Given the description of an element on the screen output the (x, y) to click on. 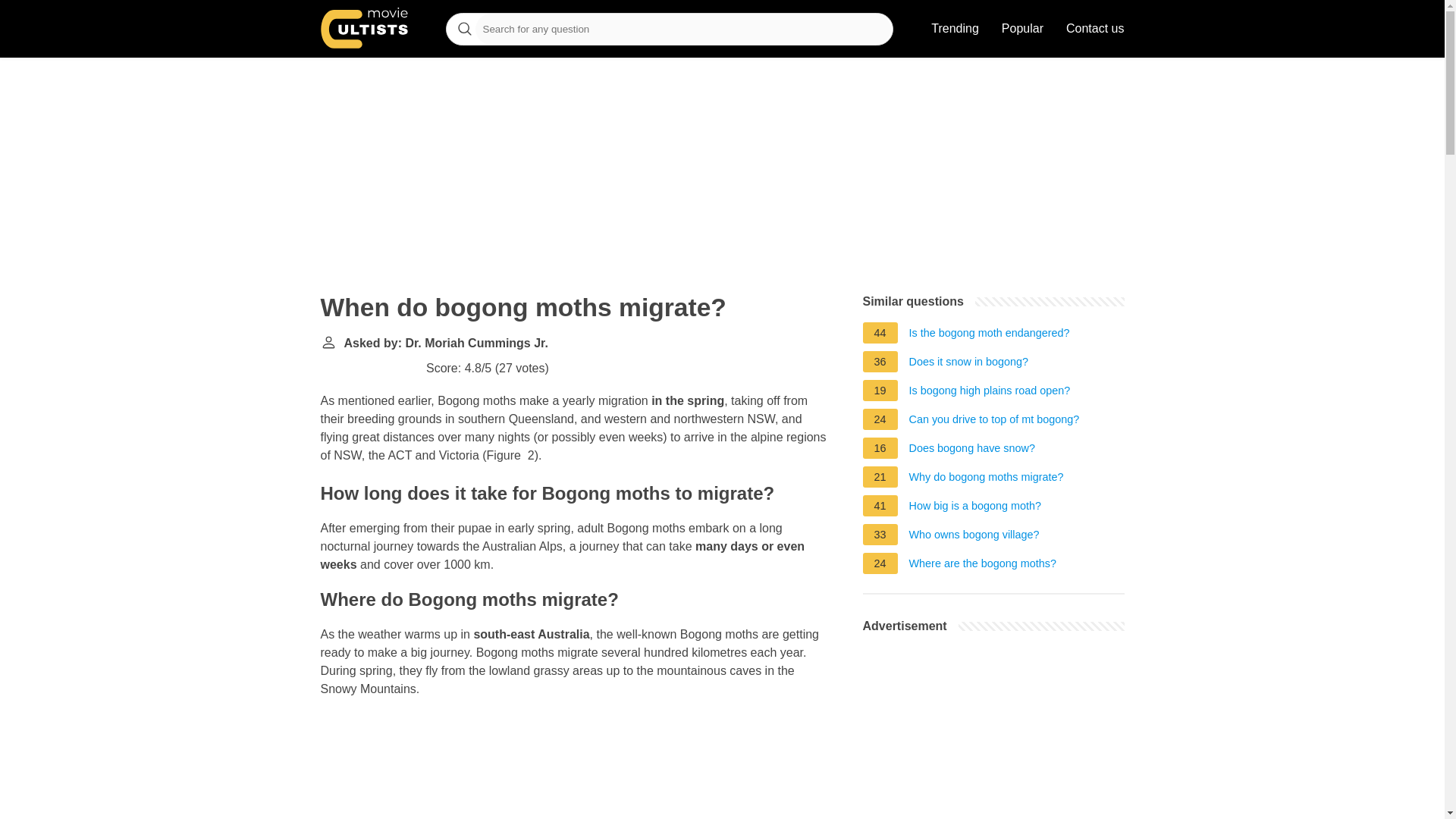
How big is a bogong moth? (974, 507)
Is bogong high plains road open? (989, 392)
Why do bogong moths migrate? (986, 478)
Can you drive to top of mt bogong? (994, 421)
Popular (1022, 28)
Who owns bogong village? (973, 536)
Where are the bogong moths? (982, 565)
Is the bogong moth endangered? (989, 334)
Contact us (1094, 28)
Does it snow in bogong? (968, 363)
Does bogong have snow? (971, 450)
Trending (954, 28)
